Given the description of an element on the screen output the (x, y) to click on. 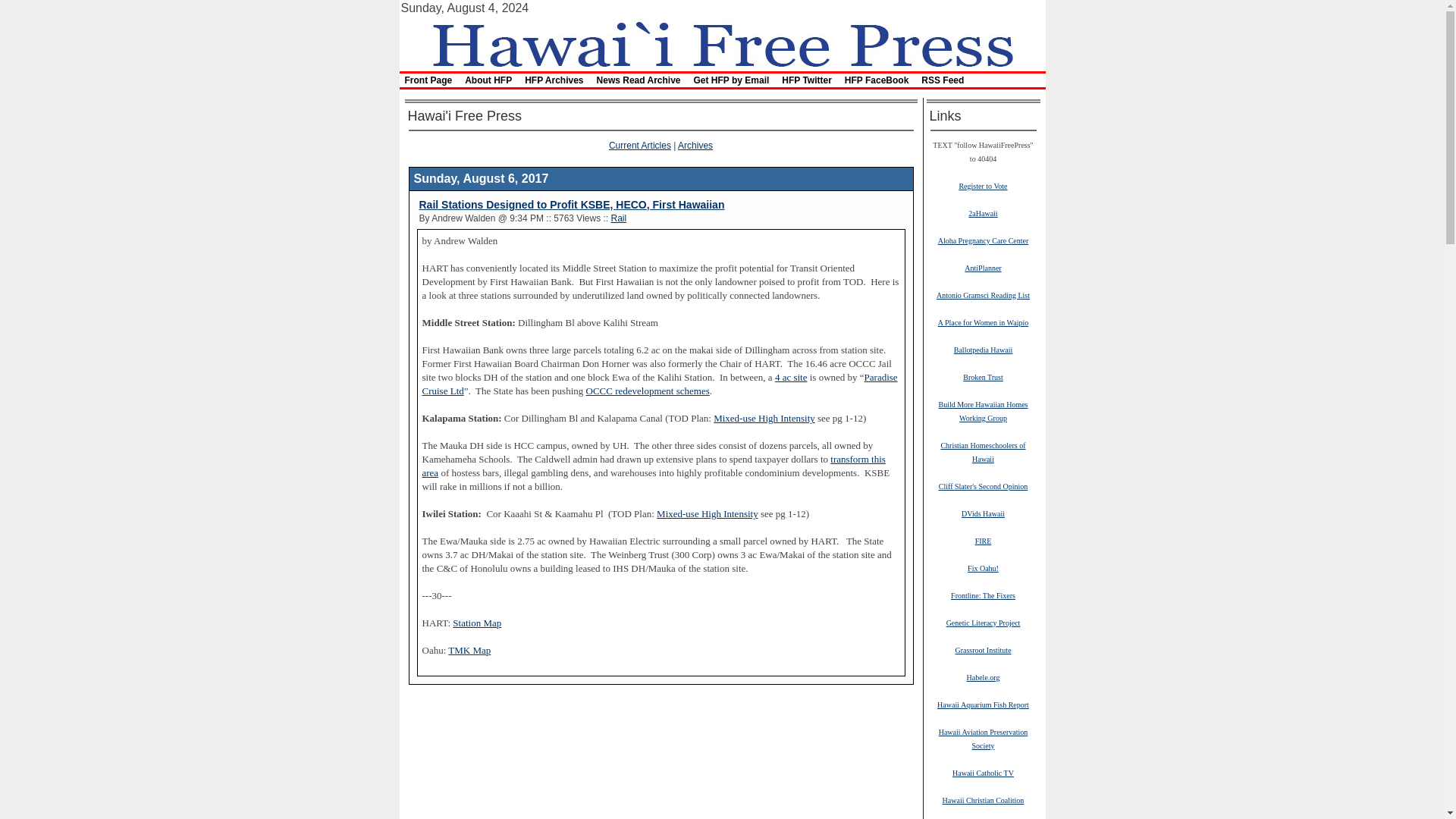
Broken Trust (982, 376)
Hawaii Aviation Preservation Society (983, 738)
Rail Stations Designed to Profit KSBE, HECO, First Hawaiian (571, 204)
Habele.org (983, 676)
A Place for Women in Waipio (982, 321)
Fix Oahu! (983, 567)
OCCC redevelopment schemes (648, 390)
Grassroot Institute (982, 649)
transform this area (653, 466)
TMK Map (469, 650)
Antonio Gramsci Reading List (982, 294)
Frontline: The Fixers (982, 594)
2aHawaii (982, 213)
4 ac site (791, 377)
Hawaii Free Press (721, 42)
